Given the description of an element on the screen output the (x, y) to click on. 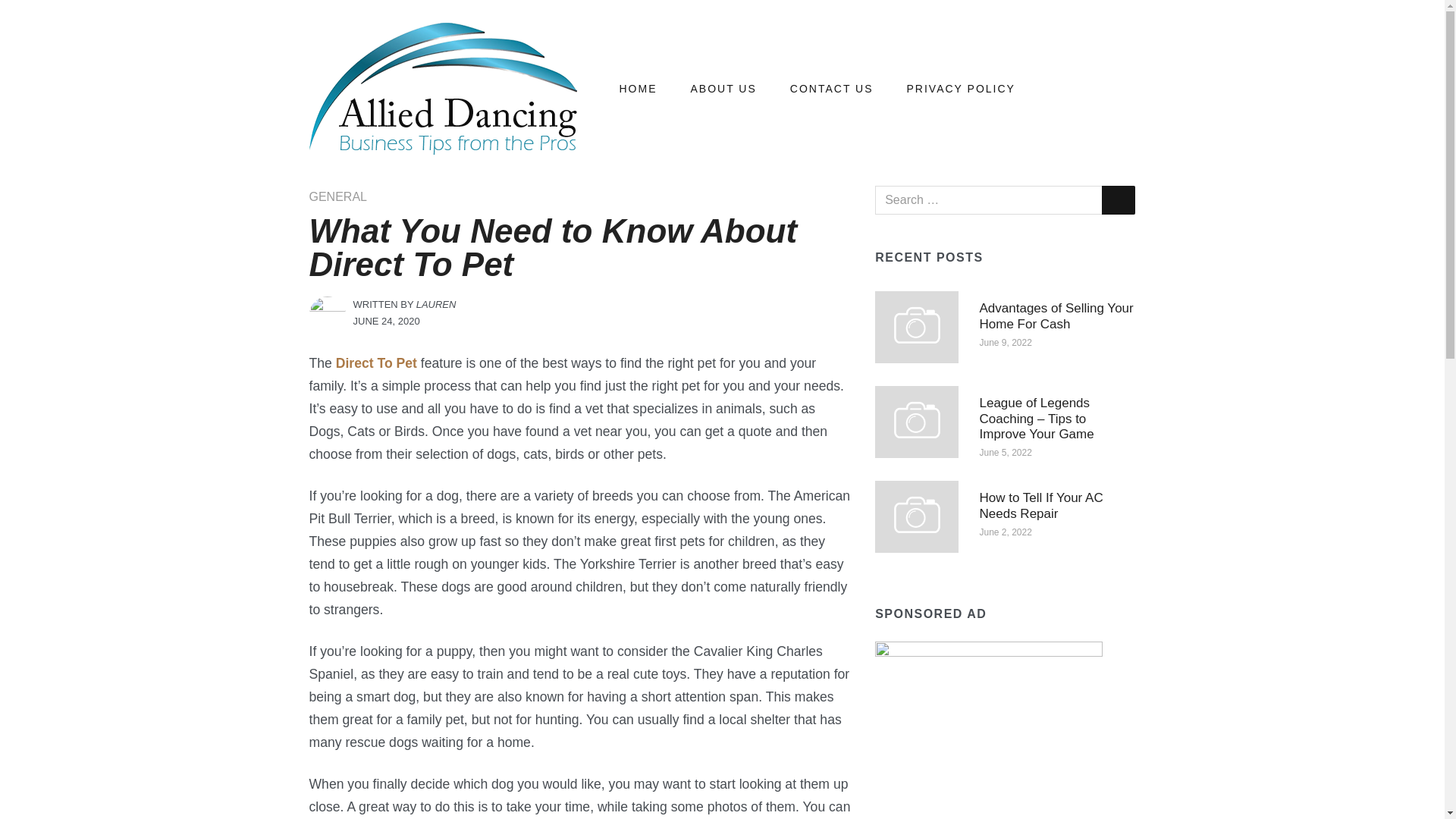
How to Tell If Your AC Needs Repair (1041, 505)
JUNE 24, 2020 (386, 320)
CONTACT US (831, 89)
ABOUT US (724, 89)
How to Tell If Your AC Needs Repair (916, 515)
Advantages of Selling Your Home For Cash (1056, 315)
PRIVACY POLICY (960, 89)
Advantages of Selling Your Home For Cash (916, 326)
Direct To Pet (376, 363)
